Given the description of an element on the screen output the (x, y) to click on. 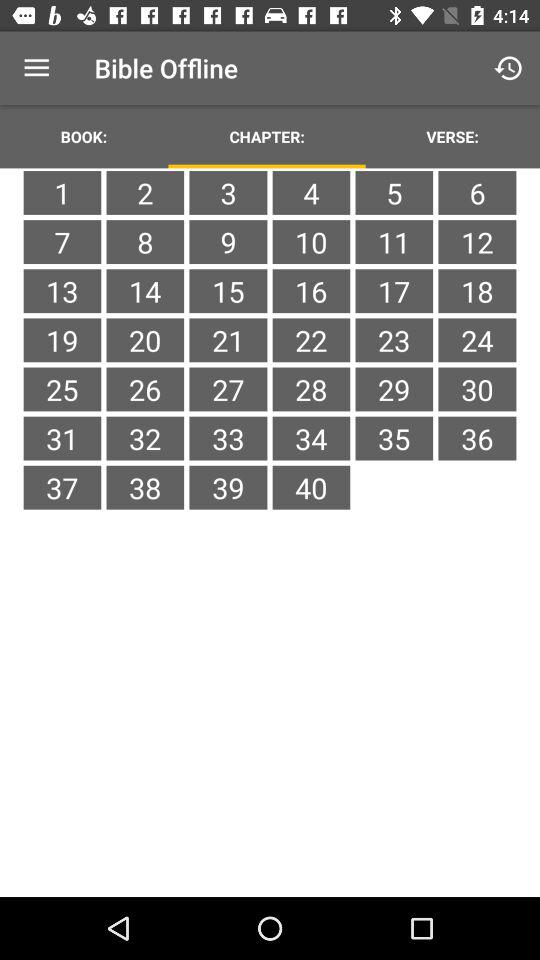
scroll until 5 item (394, 192)
